Given the description of an element on the screen output the (x, y) to click on. 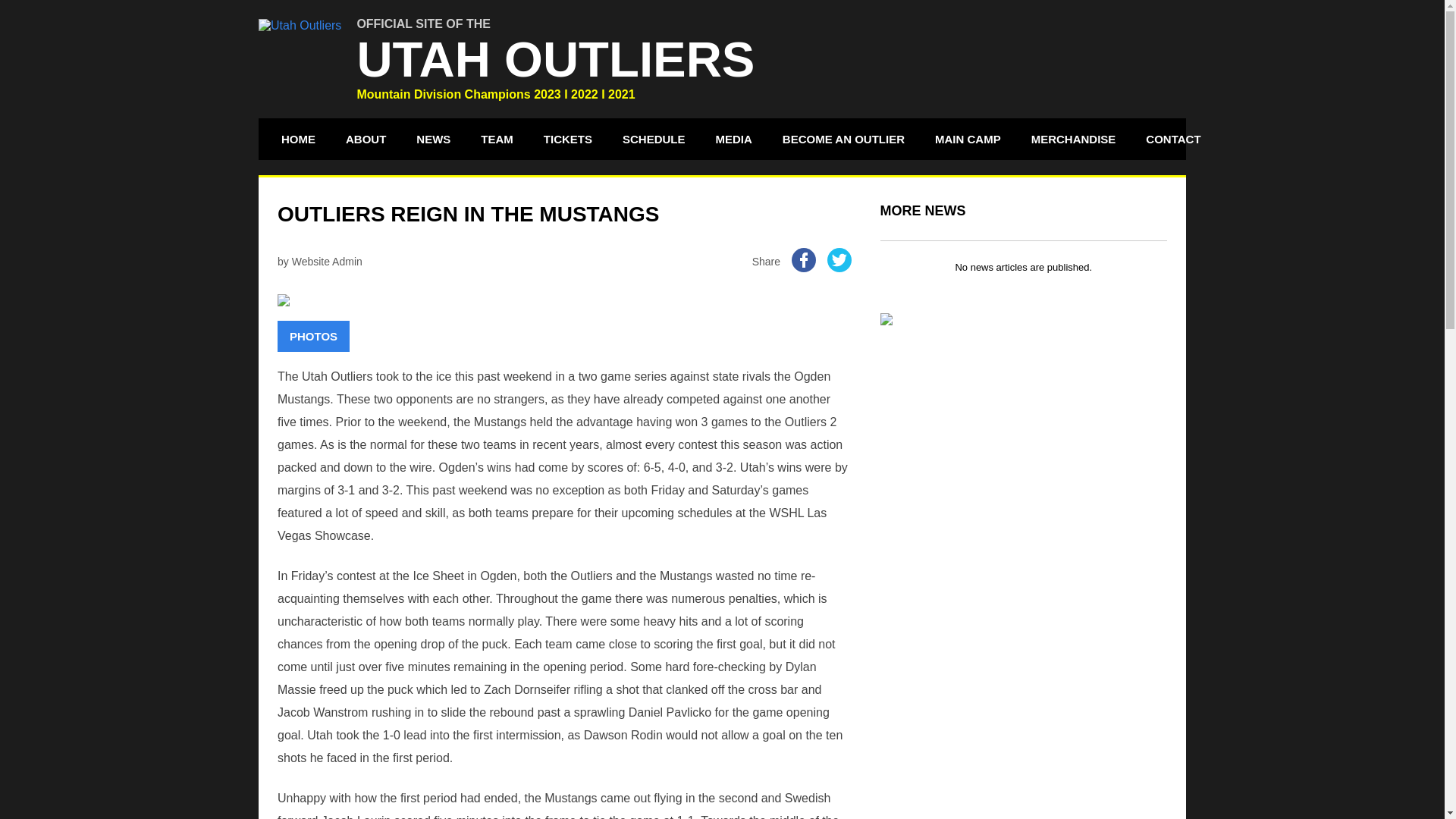
MERCHANDISE (1073, 138)
MAIN CAMP (967, 138)
HOME (297, 138)
NEWS (432, 138)
TICKETS (568, 138)
PHOTOS (313, 336)
